Given the description of an element on the screen output the (x, y) to click on. 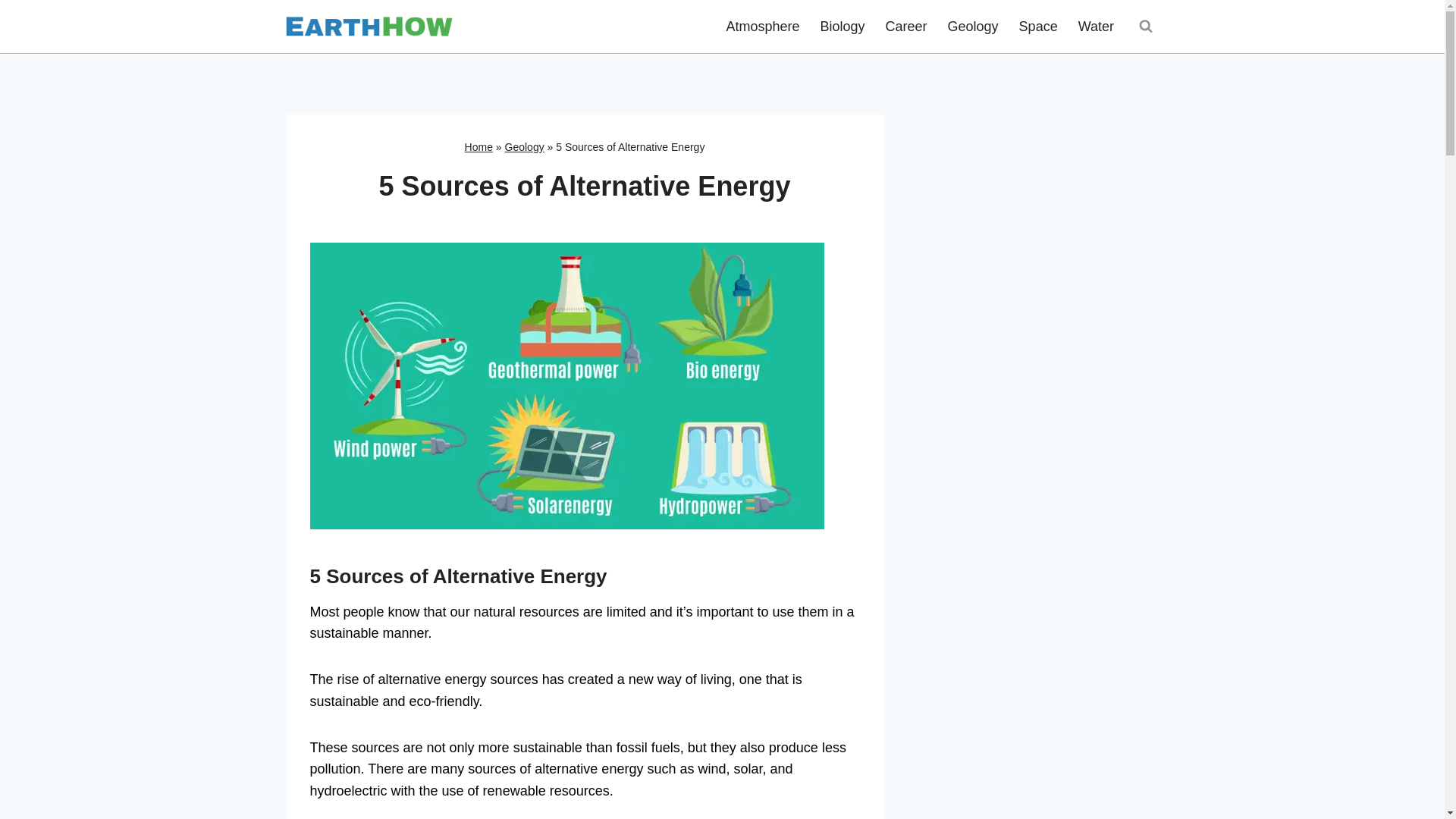
Space (1038, 26)
Biology (842, 26)
Geology (524, 146)
Career (906, 26)
Atmosphere (762, 26)
Water (1095, 26)
Geology (973, 26)
Home (478, 146)
